Given the description of an element on the screen output the (x, y) to click on. 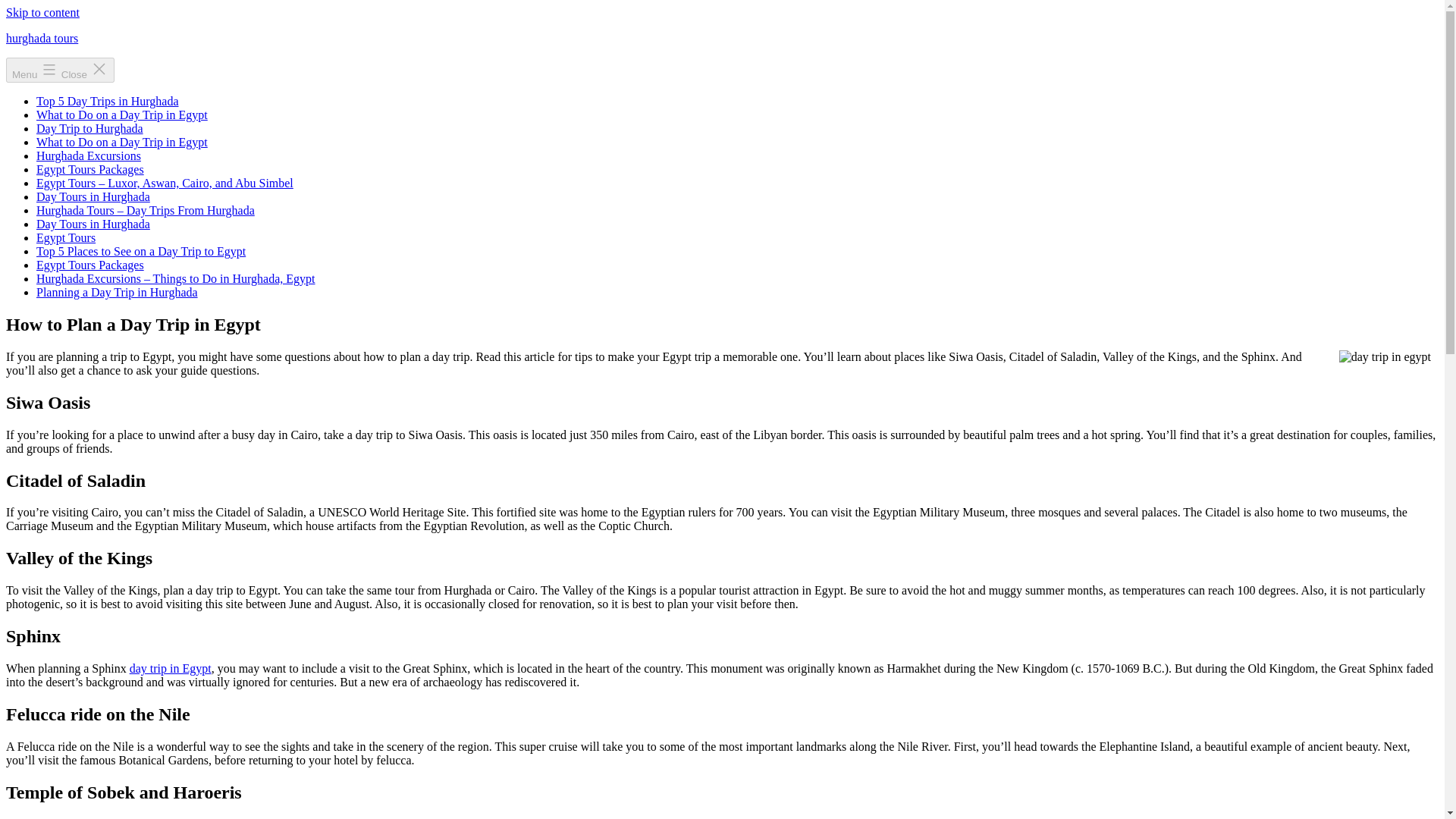
Planning a Day Trip in Hurghada (117, 291)
Day Tours in Hurghada (92, 196)
What to Do on a Day Trip in Egypt (122, 141)
Egypt Tours Packages (90, 264)
day trip in Egypt (170, 667)
Egypt Tours (66, 237)
Day Tours in Hurghada (92, 223)
Day Trip to Hurghada (89, 128)
Top 5 Places to See on a Day Trip to Egypt (141, 250)
Egypt Tours Packages (90, 169)
hurghada tours (41, 38)
Top 5 Day Trips in Hurghada (106, 101)
What to Do on a Day Trip in Egypt (122, 114)
Hurghada Excursions (88, 155)
Menu Close (60, 69)
